Given the description of an element on the screen output the (x, y) to click on. 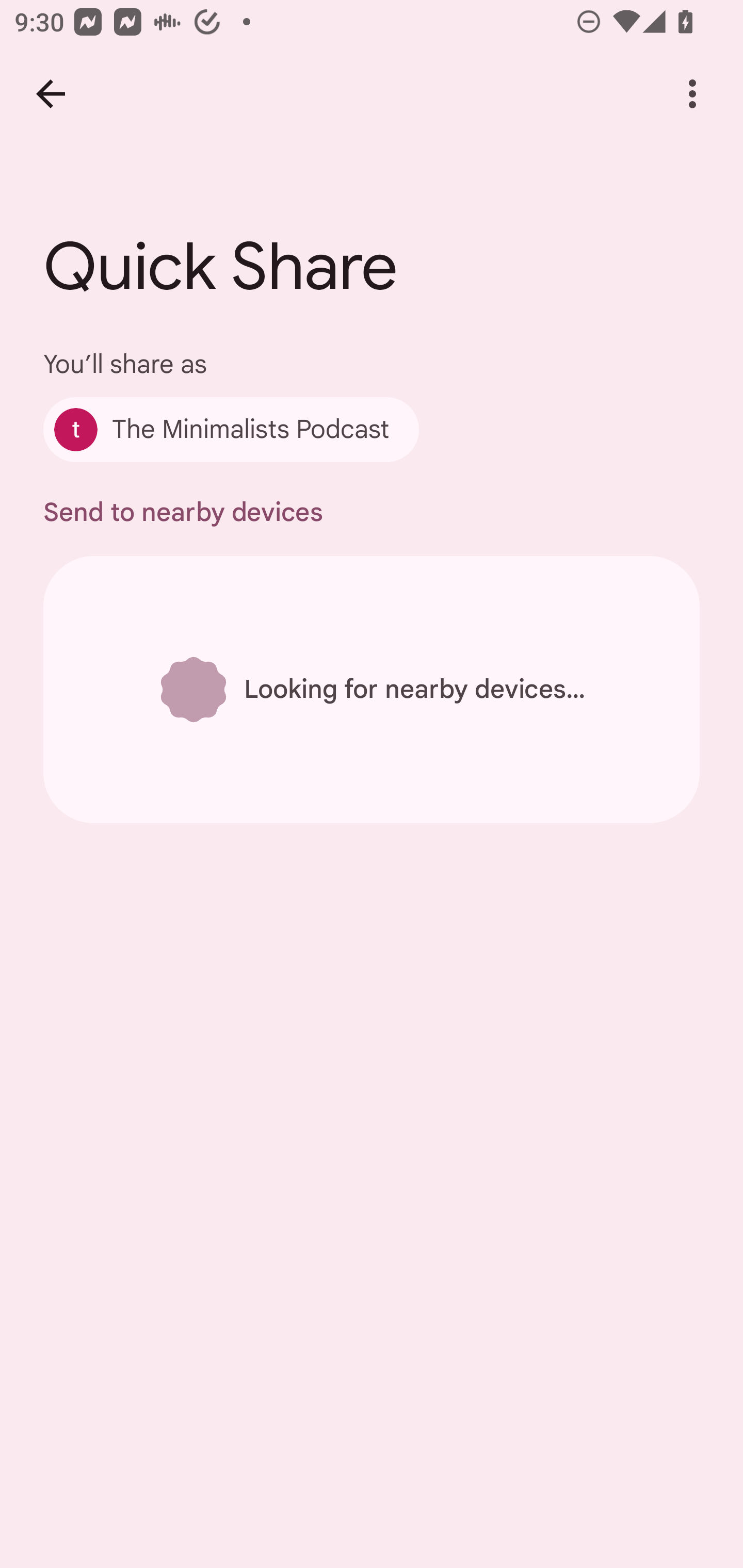
Back (50, 93)
More (692, 93)
The Minimalists Podcast (231, 429)
